Given the description of an element on the screen output the (x, y) to click on. 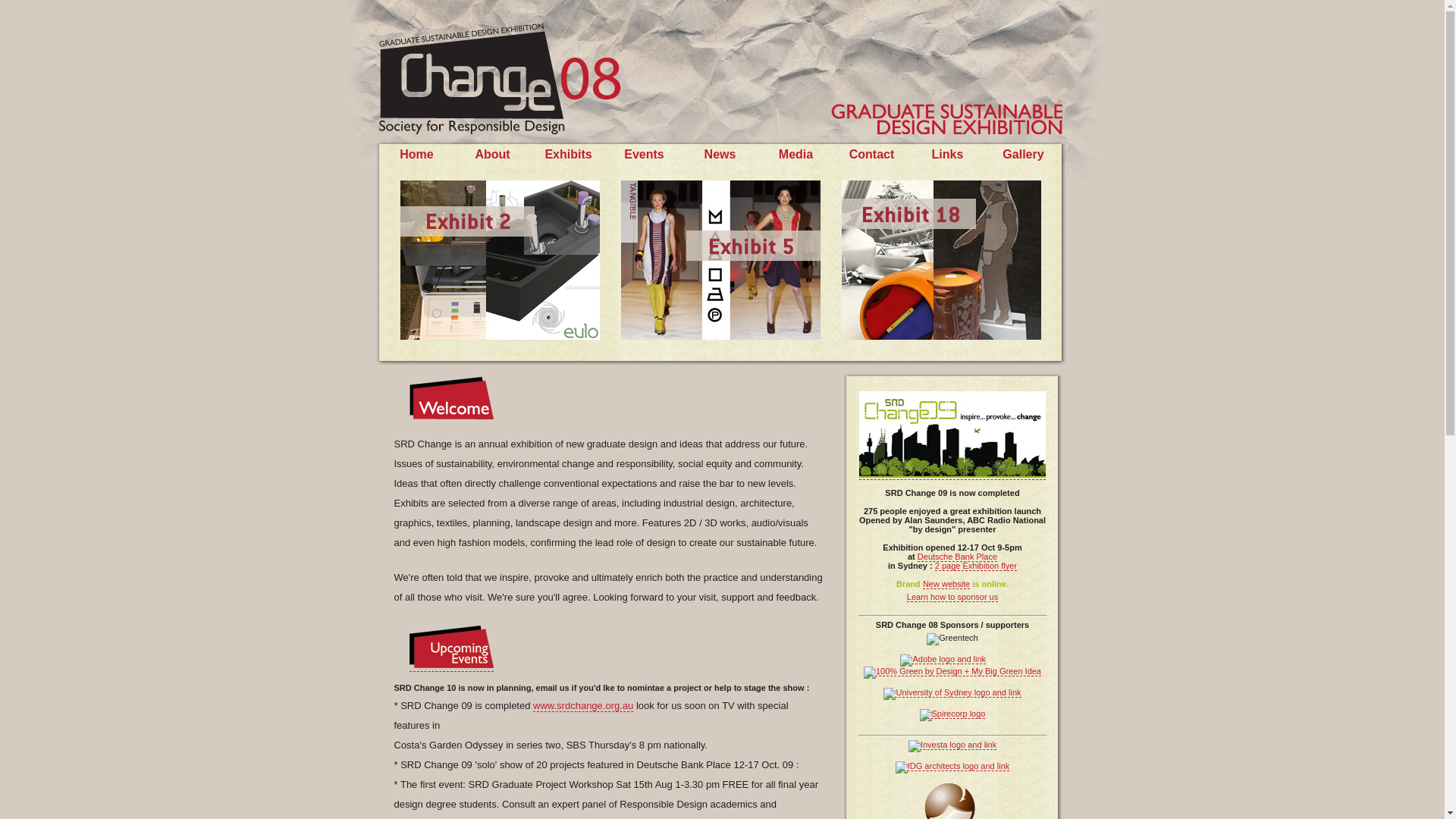
Greentech Element type: hover (951, 639)
Media Element type: text (795, 153)
Spirecorp logo Element type: hover (952, 715)
My Big Green Idea Element type: hover (952, 672)
News Element type: text (720, 153)
SRDchange Element type: hover (952, 434)
Home Element type: text (416, 153)
Links Element type: text (947, 153)
Welcome to SRD Change 08 Element type: hover (451, 397)
About Element type: text (491, 153)
2 page Exhibition flyer Element type: text (975, 566)
IDG architects logo Element type: hover (952, 767)
Investa logo Element type: hover (952, 746)
Adobe logo and link Element type: hover (942, 660)
Gallery Element type: text (1022, 153)
Deutsche Bank Place Element type: text (957, 556)
University of Sydney logo and link Element type: hover (951, 693)
Exhibits Element type: text (567, 153)
Contact Element type: text (871, 153)
Upcoming Change 08 Events Element type: hover (451, 646)
Learn how to sponsor us Element type: text (951, 597)
Events Element type: text (643, 153)
www.srdchange.org.au Element type: text (583, 705)
New website Element type: text (945, 584)
